Given the description of an element on the screen output the (x, y) to click on. 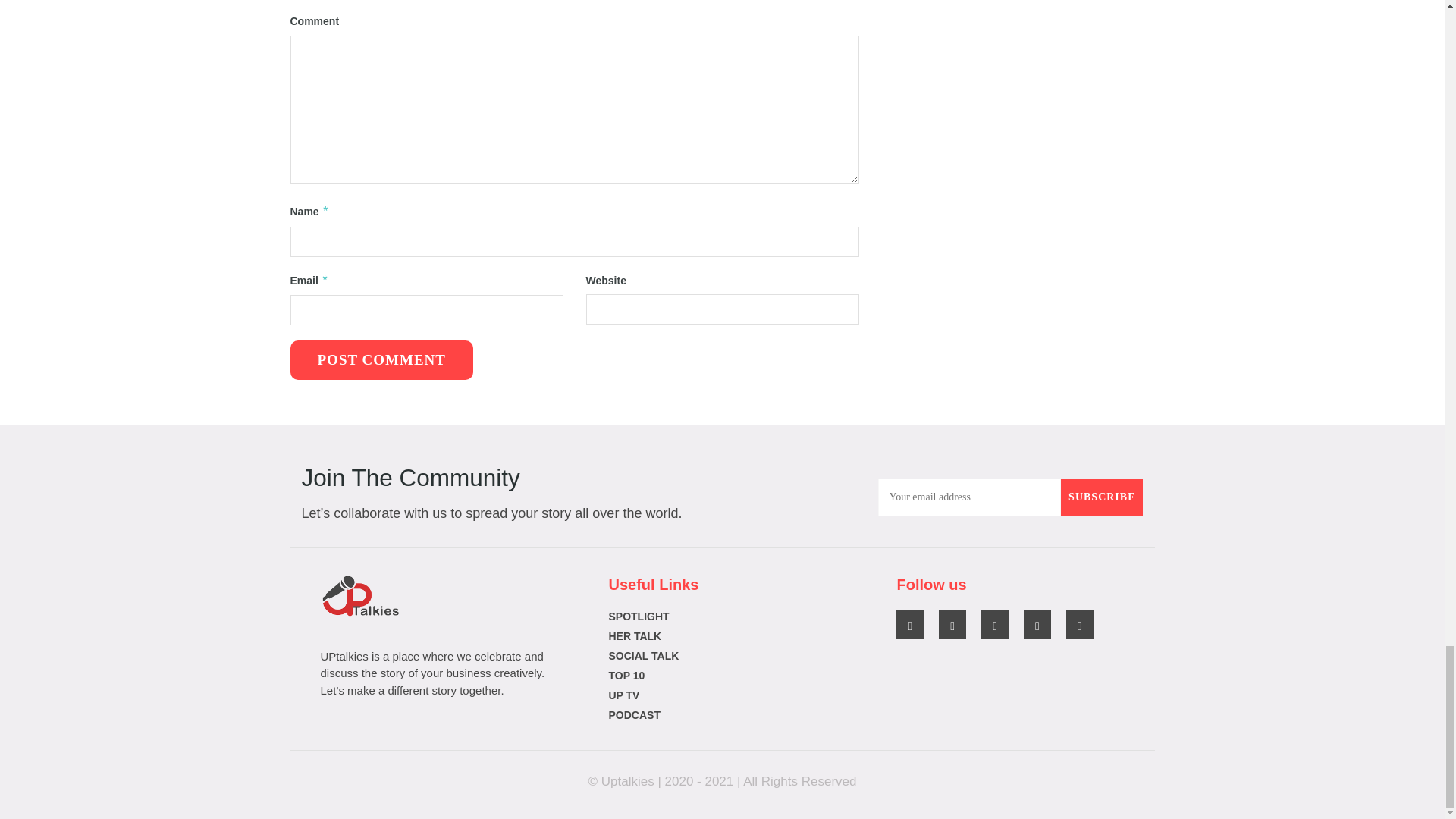
SUBSCRIBE (1101, 497)
Post Comment (380, 360)
